Given the description of an element on the screen output the (x, y) to click on. 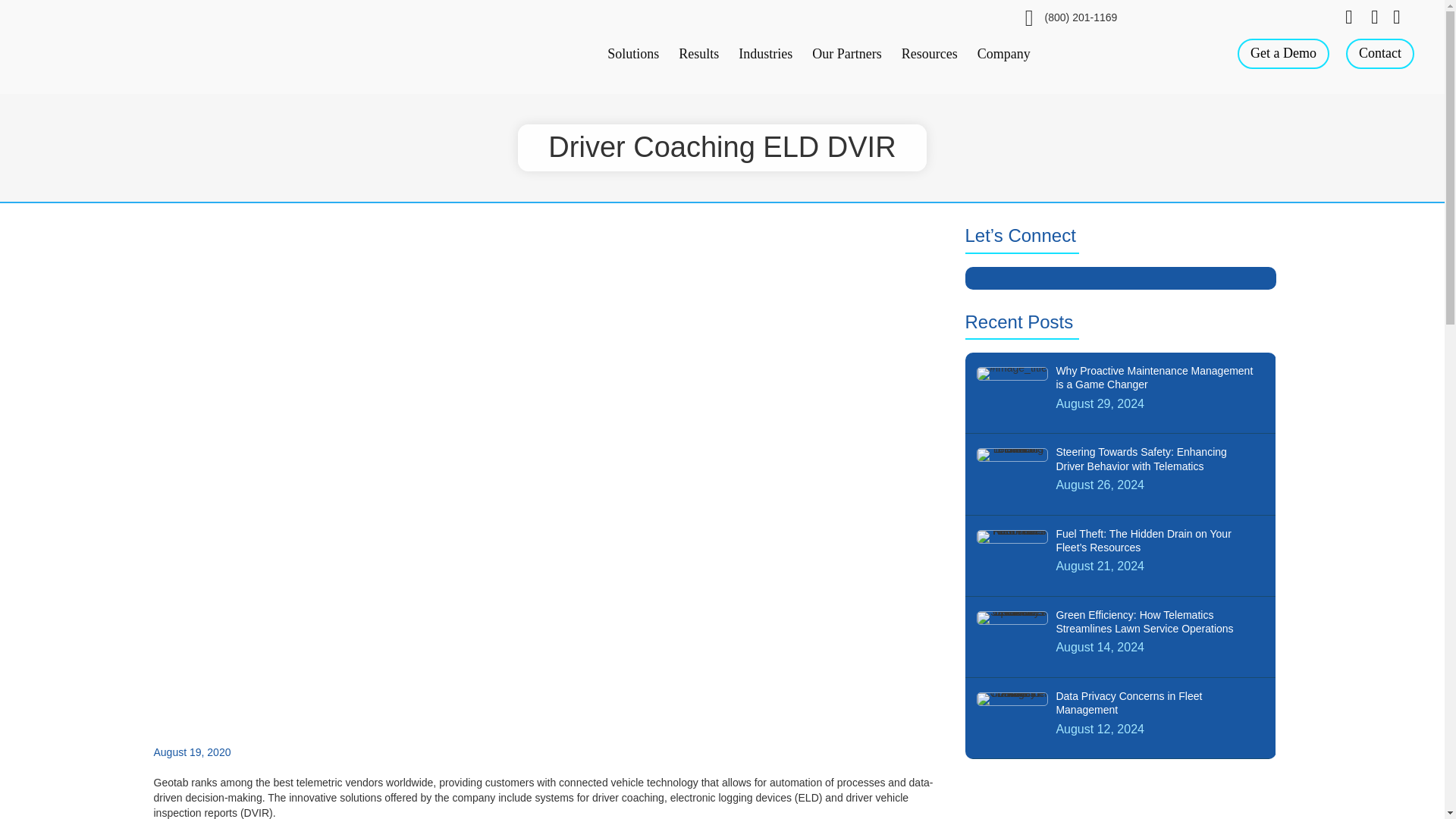
Why Proactive Maintenance Management is a Game Changer (1119, 392)
Enhancing Driver Behavior with Telematics (1011, 454)
image (1011, 373)
Solutions (630, 53)
EnVue Telematics (113, 47)
Results (696, 53)
Our Partners (844, 53)
Fuel Theft: The Hidden Drain on Your Fleet's Resources (1011, 536)
Industries (763, 53)
